Given the description of an element on the screen output the (x, y) to click on. 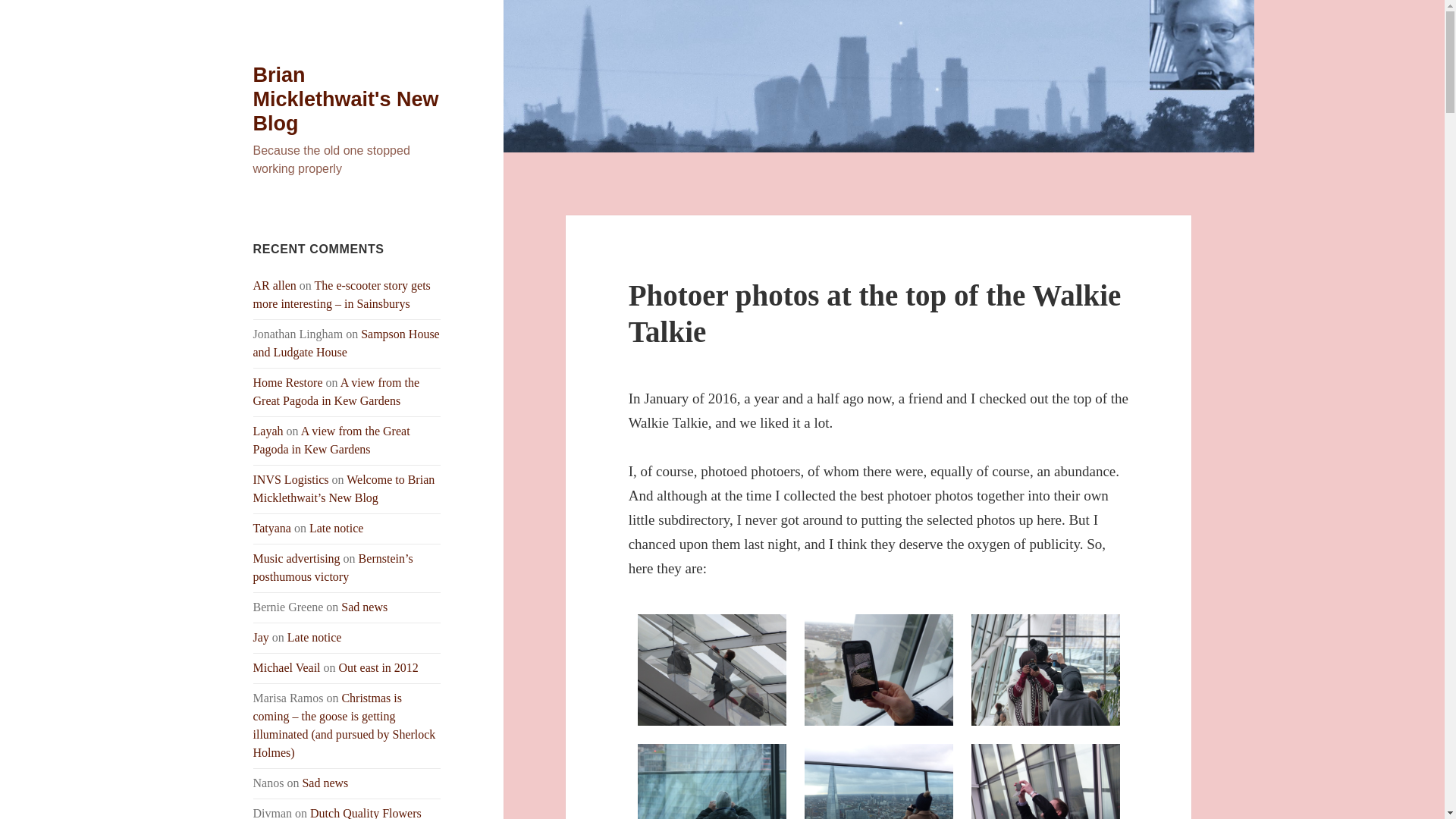
A view from the Great Pagoda in Kew Gardens (331, 440)
Music advertising (296, 558)
Late notice (336, 527)
Home Restore (288, 382)
AR allen (275, 285)
Sad news (324, 782)
Out east in 2012 (379, 667)
A view from the Great Pagoda in Kew Gardens (336, 391)
Tatyana (272, 527)
Brian Micklethwait's New Blog (346, 99)
